Given the description of an element on the screen output the (x, y) to click on. 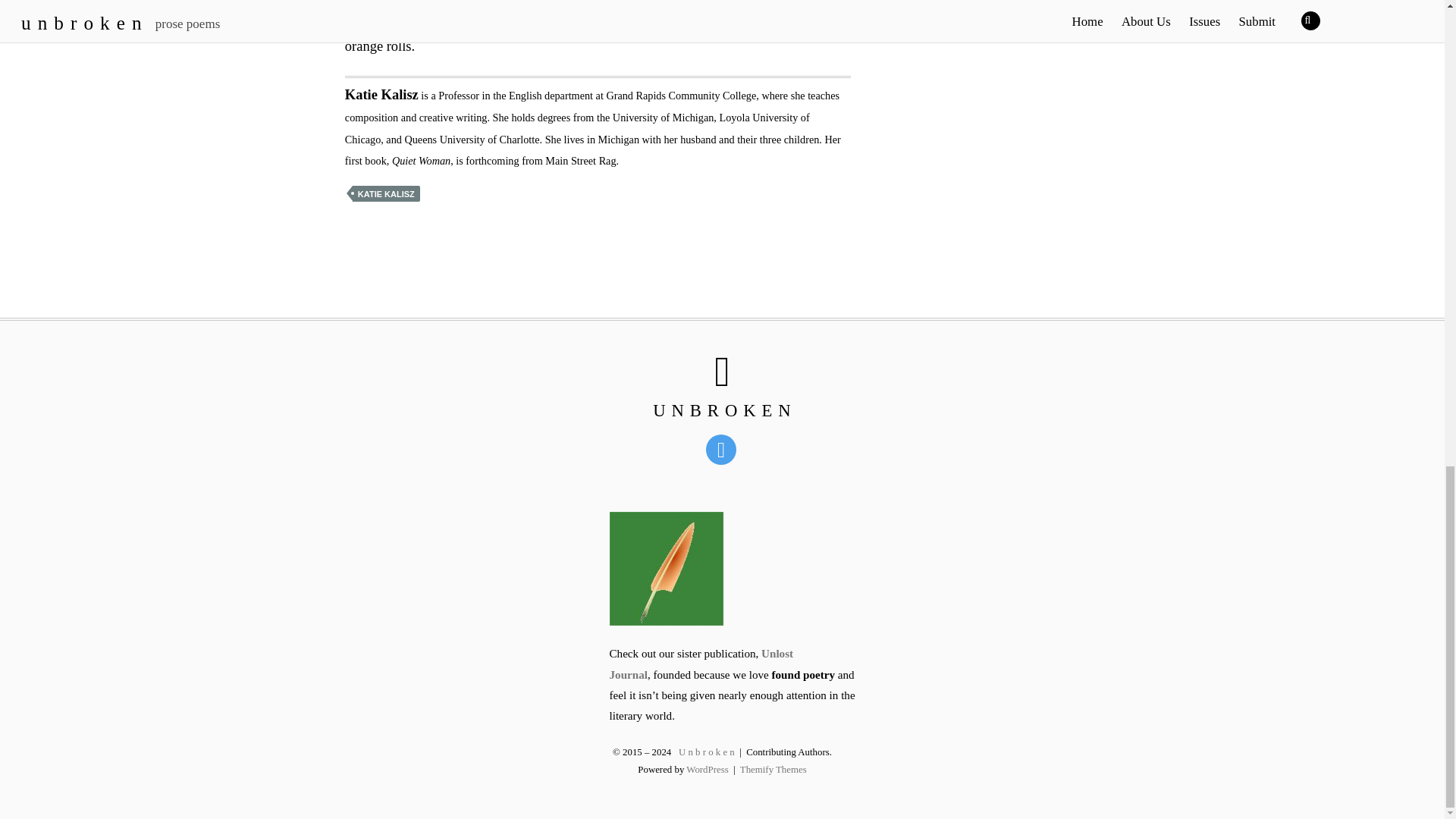
U n b r o k e n (722, 410)
U N B R O K E N (722, 410)
KATIE KALISZ (386, 193)
Twitter (723, 449)
